Given the description of an element on the screen output the (x, y) to click on. 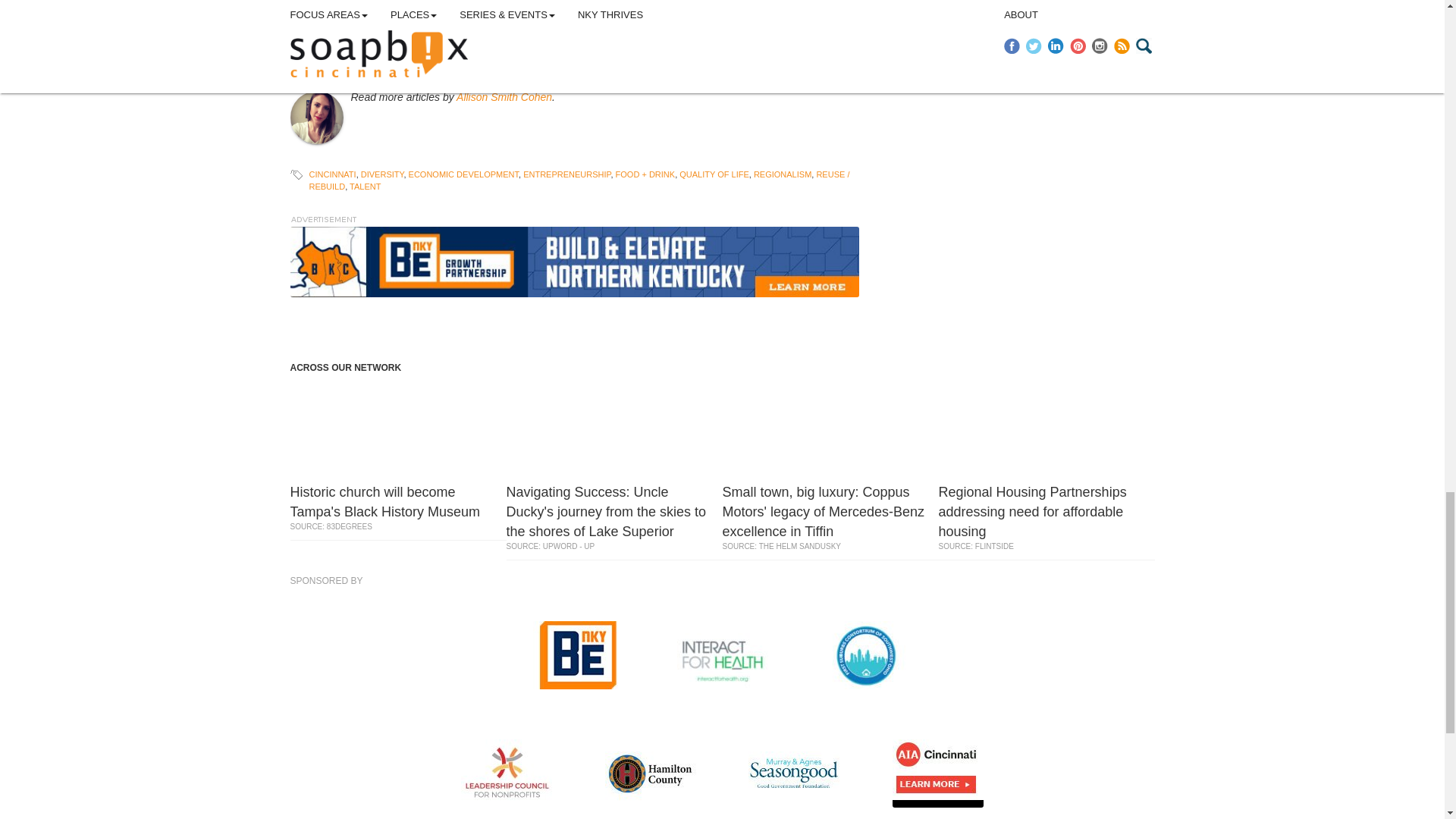
View more stories related to Entrepreneurship (566, 174)
View more stories related to Quality of Life (714, 174)
View more stories related to Talent (364, 185)
View more stories related to Economic Development (463, 174)
View more stories related to Diversity (382, 174)
View more stories related to Regionalism (782, 174)
View more stories related to Cincinnati (332, 174)
